Given the description of an element on the screen output the (x, y) to click on. 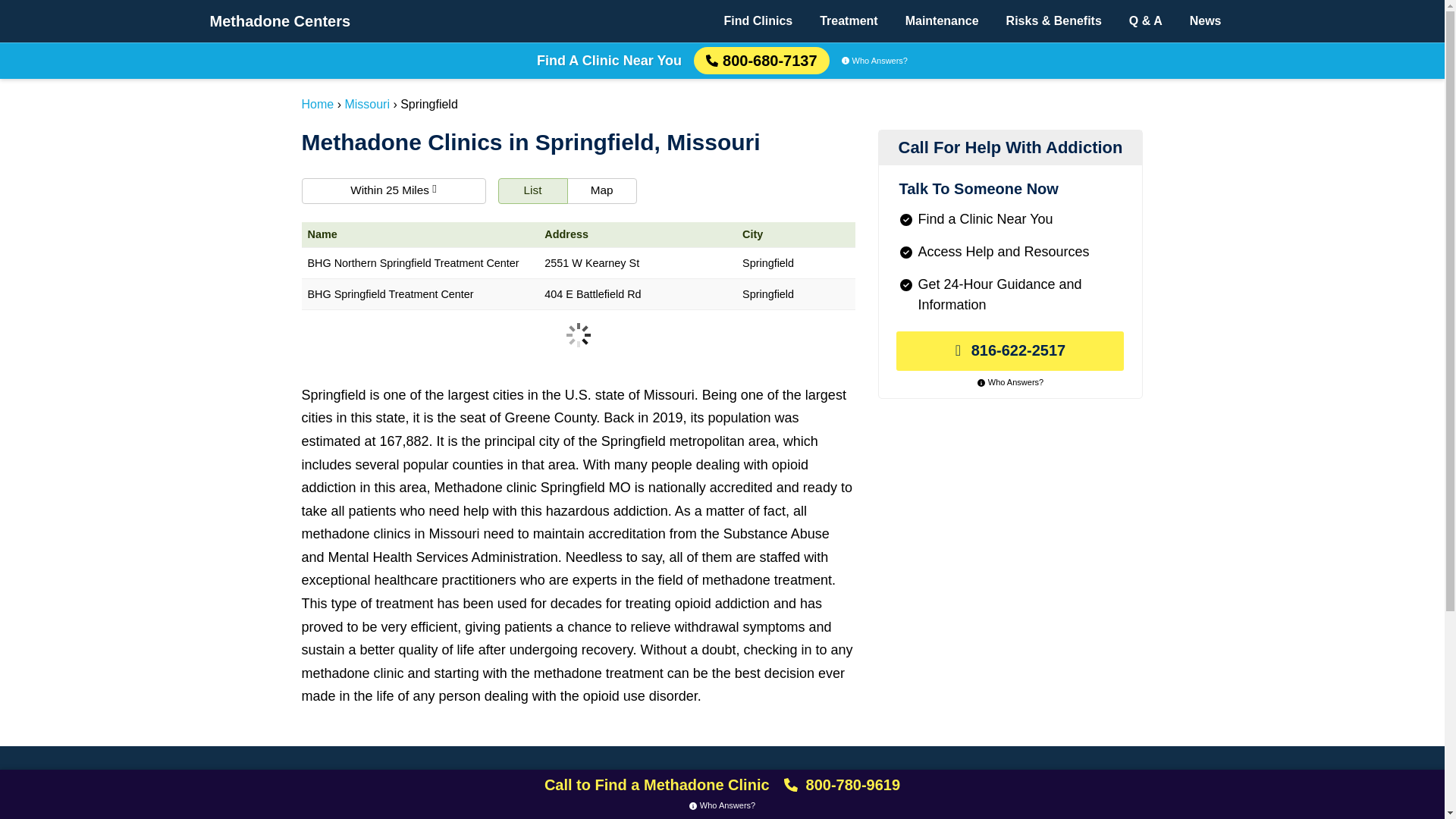
Maintenance (608, 807)
800-680-7137 (761, 60)
Treatment (511, 807)
Find A Clinic Near You (609, 60)
Map (602, 190)
Find Clinics (419, 807)
BHG Springfield Treatment Center (419, 294)
BHG Northern Springfield Treatment Center (419, 263)
List (532, 190)
816-622-2517 (1010, 351)
